Given the description of an element on the screen output the (x, y) to click on. 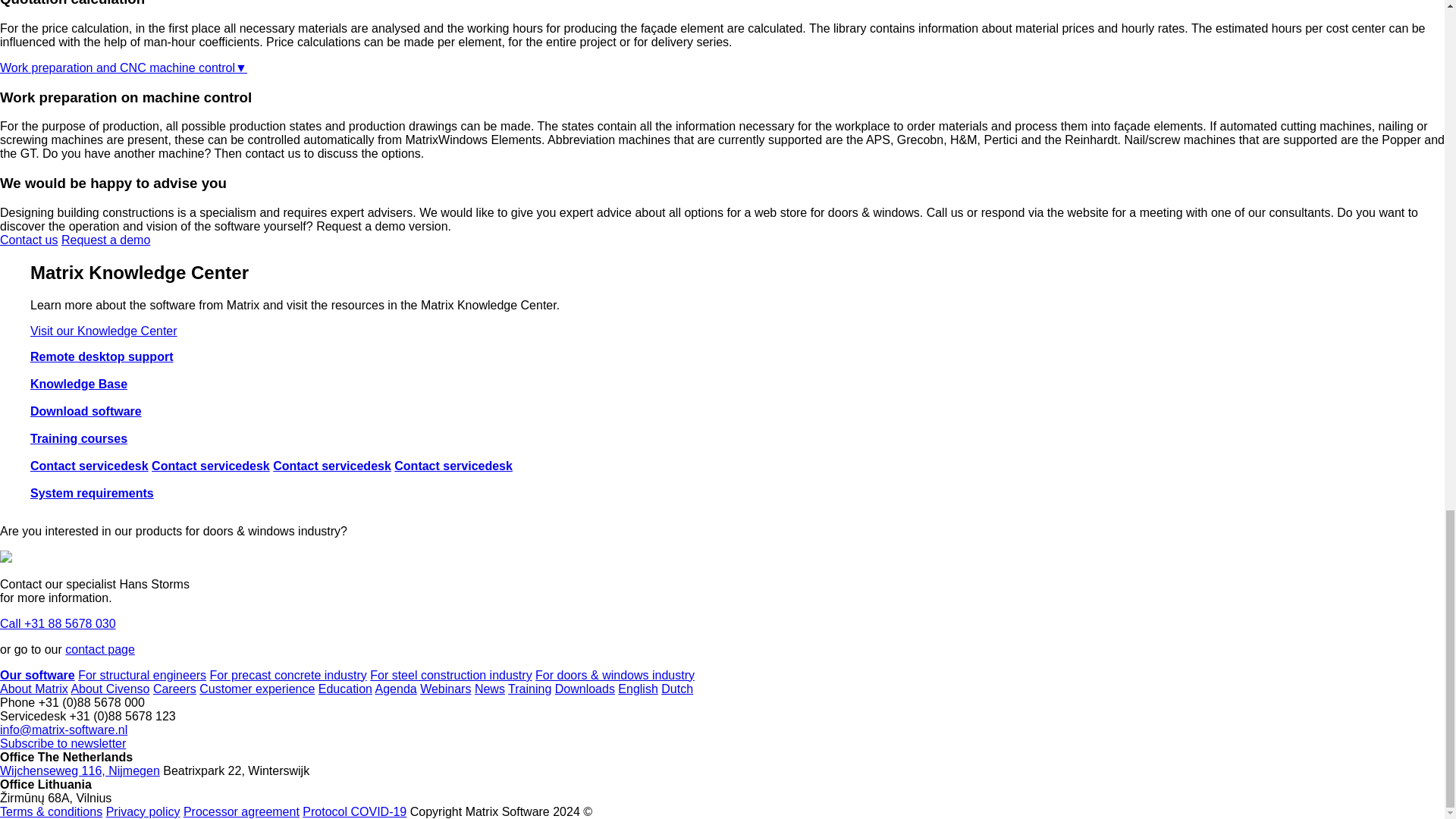
Subscribe to our newsletter (62, 743)
